Given the description of an element on the screen output the (x, y) to click on. 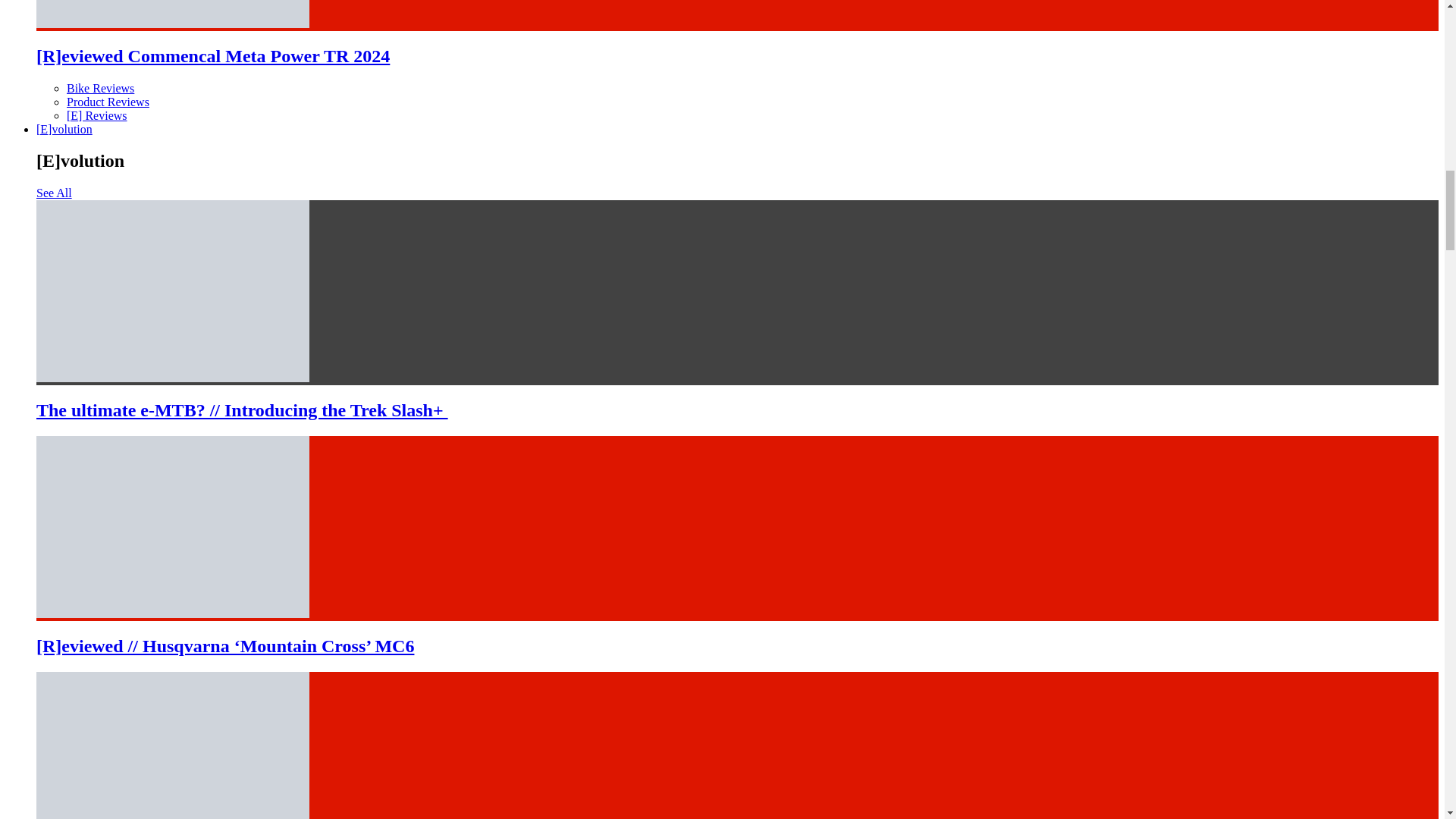
See All (53, 192)
Bike Reviews (99, 88)
Product Reviews (107, 101)
